Given the description of an element on the screen output the (x, y) to click on. 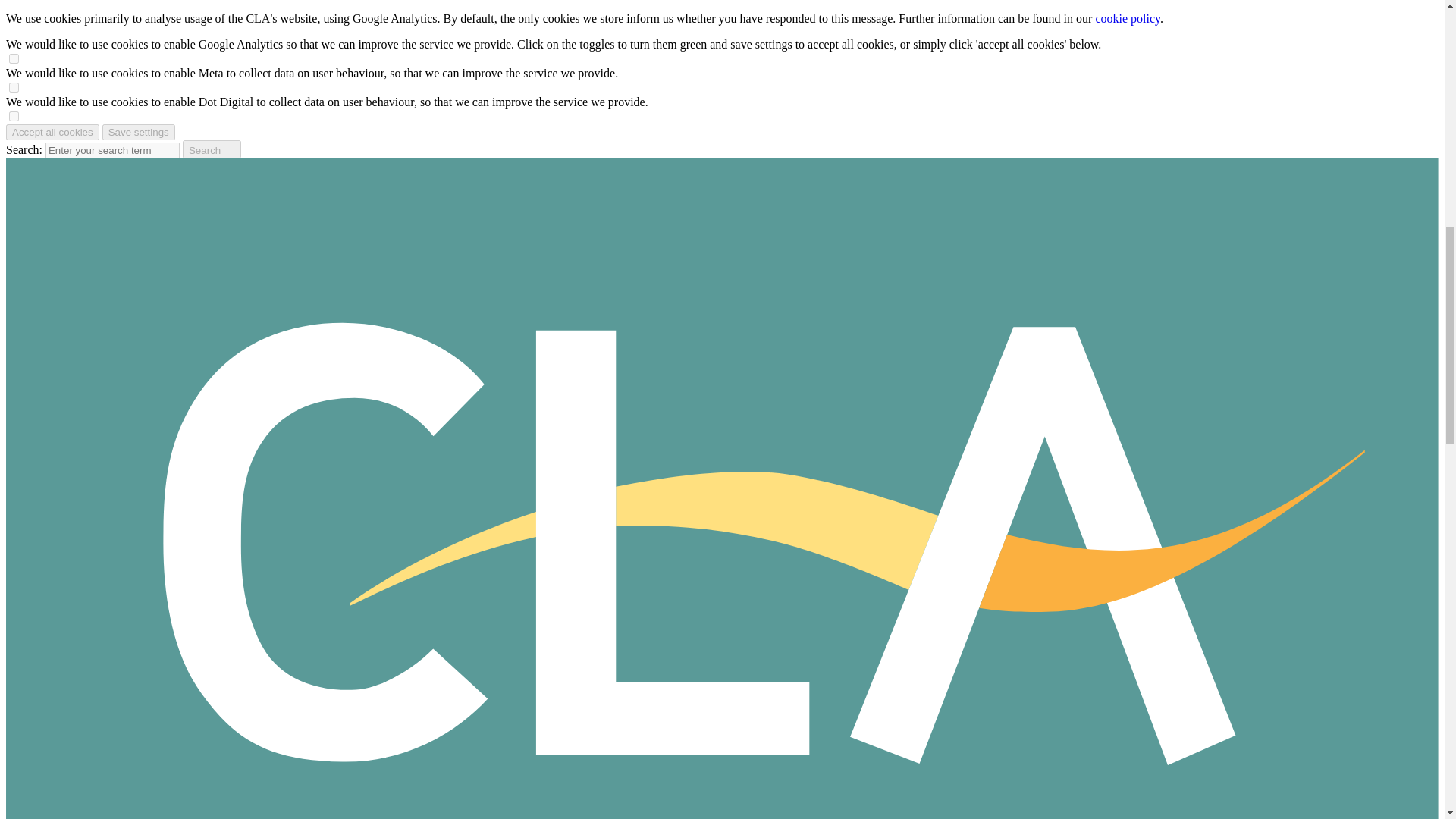
Save settings (137, 132)
Search (212, 149)
on (13, 58)
on (13, 116)
on (13, 87)
cookie policy (1127, 18)
Accept all cookies (52, 132)
